Given the description of an element on the screen output the (x, y) to click on. 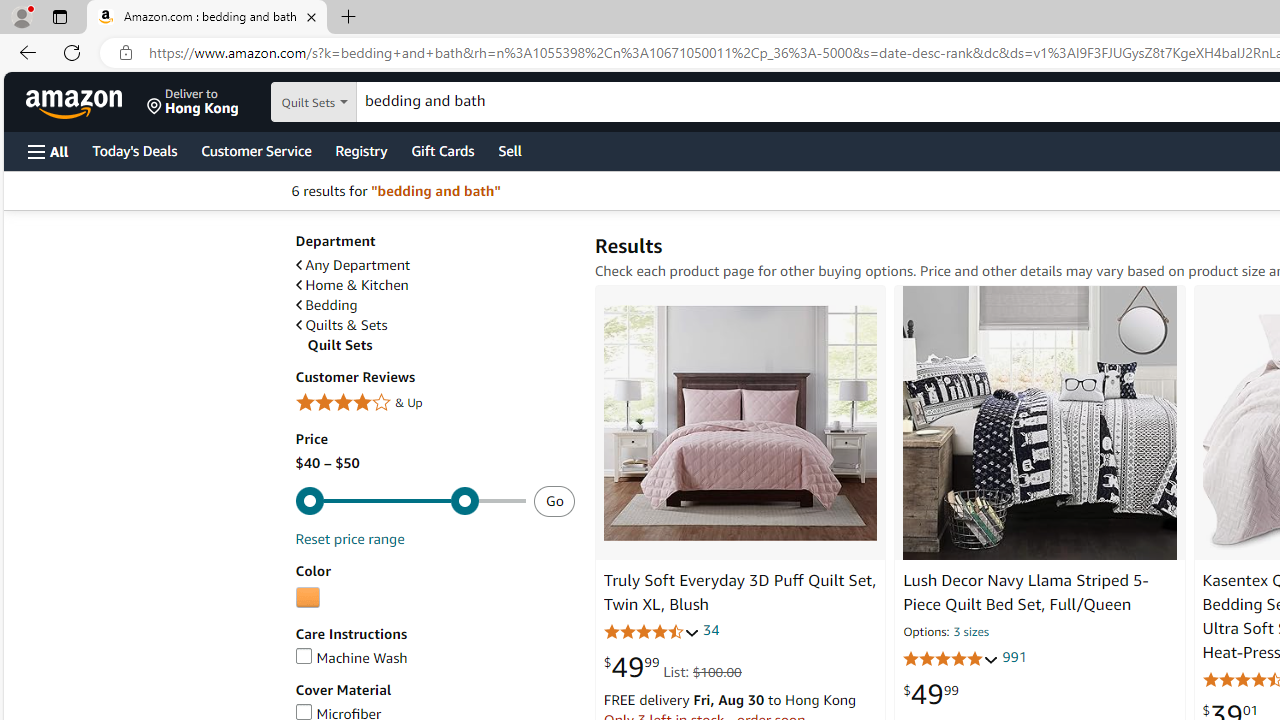
4 Stars & Up (434, 403)
Customer Service (256, 150)
Amazon (76, 101)
